Given the description of an element on the screen output the (x, y) to click on. 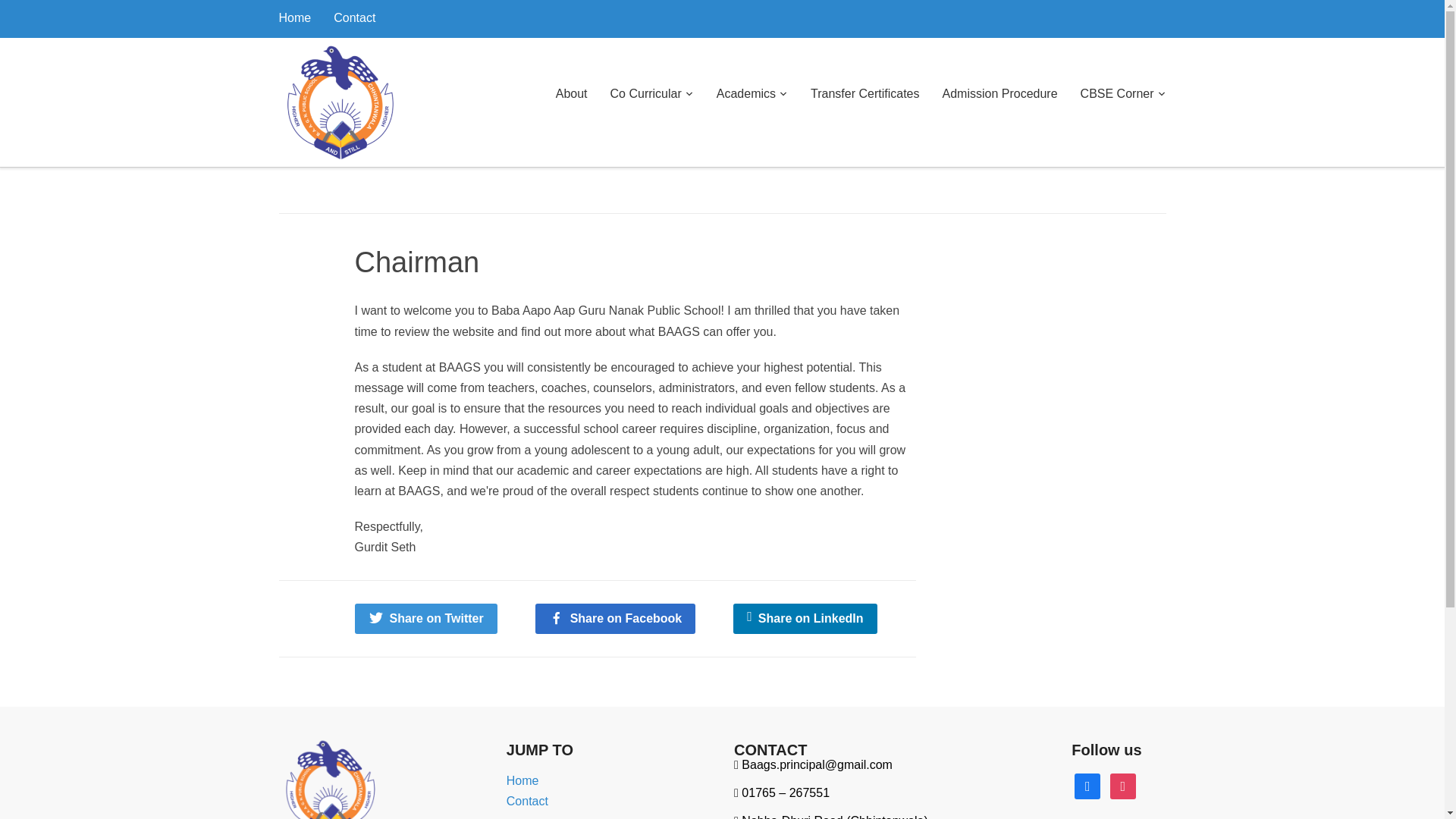
Home (295, 17)
Tweet this on Twitter (426, 618)
Instagram (1122, 784)
Share on LinkedIn (804, 618)
Facebook (1087, 784)
Share this on Facebook (615, 618)
